Given the description of an element on the screen output the (x, y) to click on. 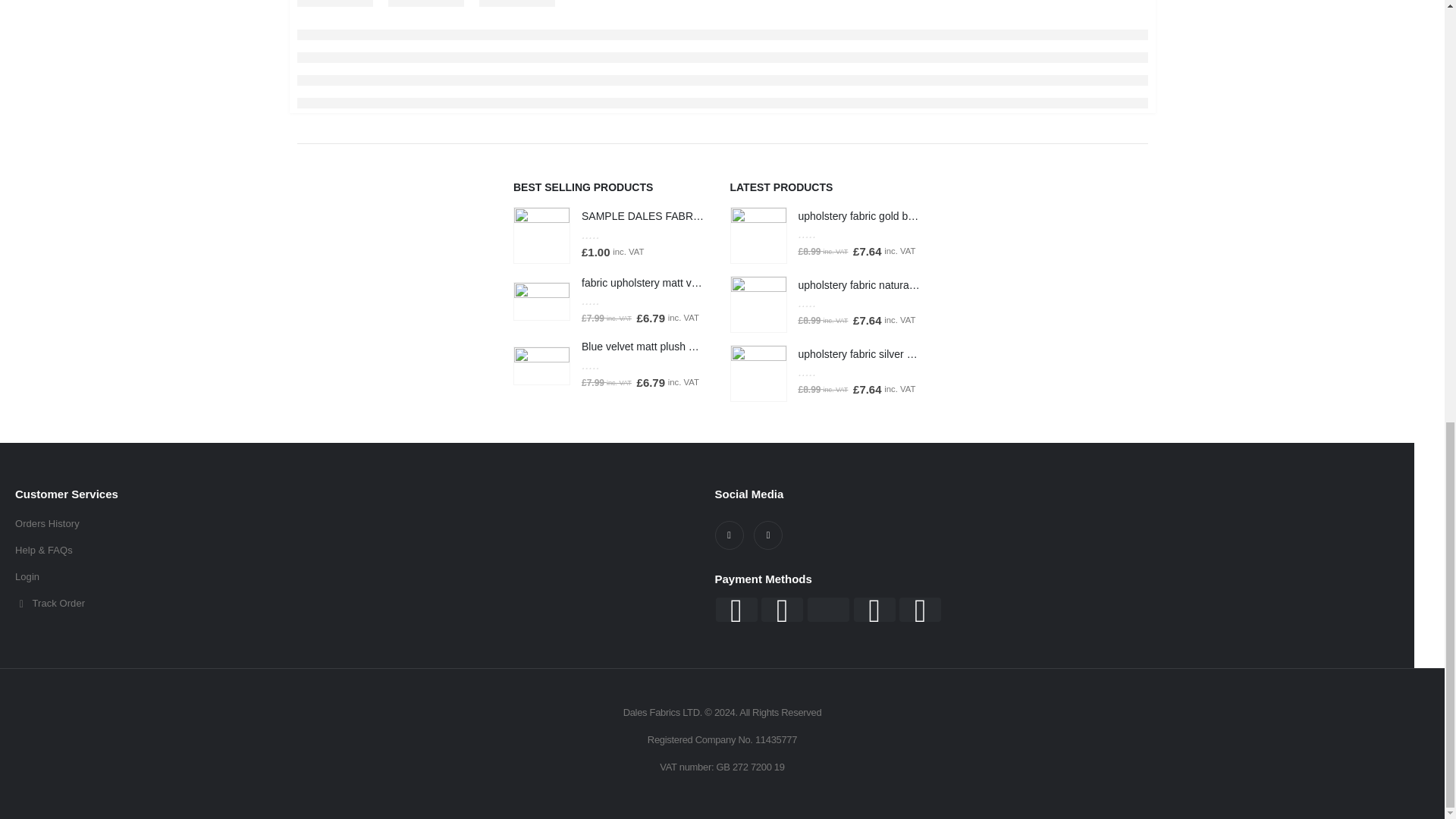
0 (605, 300)
Orders History (357, 524)
0 (605, 365)
Login (357, 577)
Track Order (357, 603)
0 (605, 234)
